Given the description of an element on the screen output the (x, y) to click on. 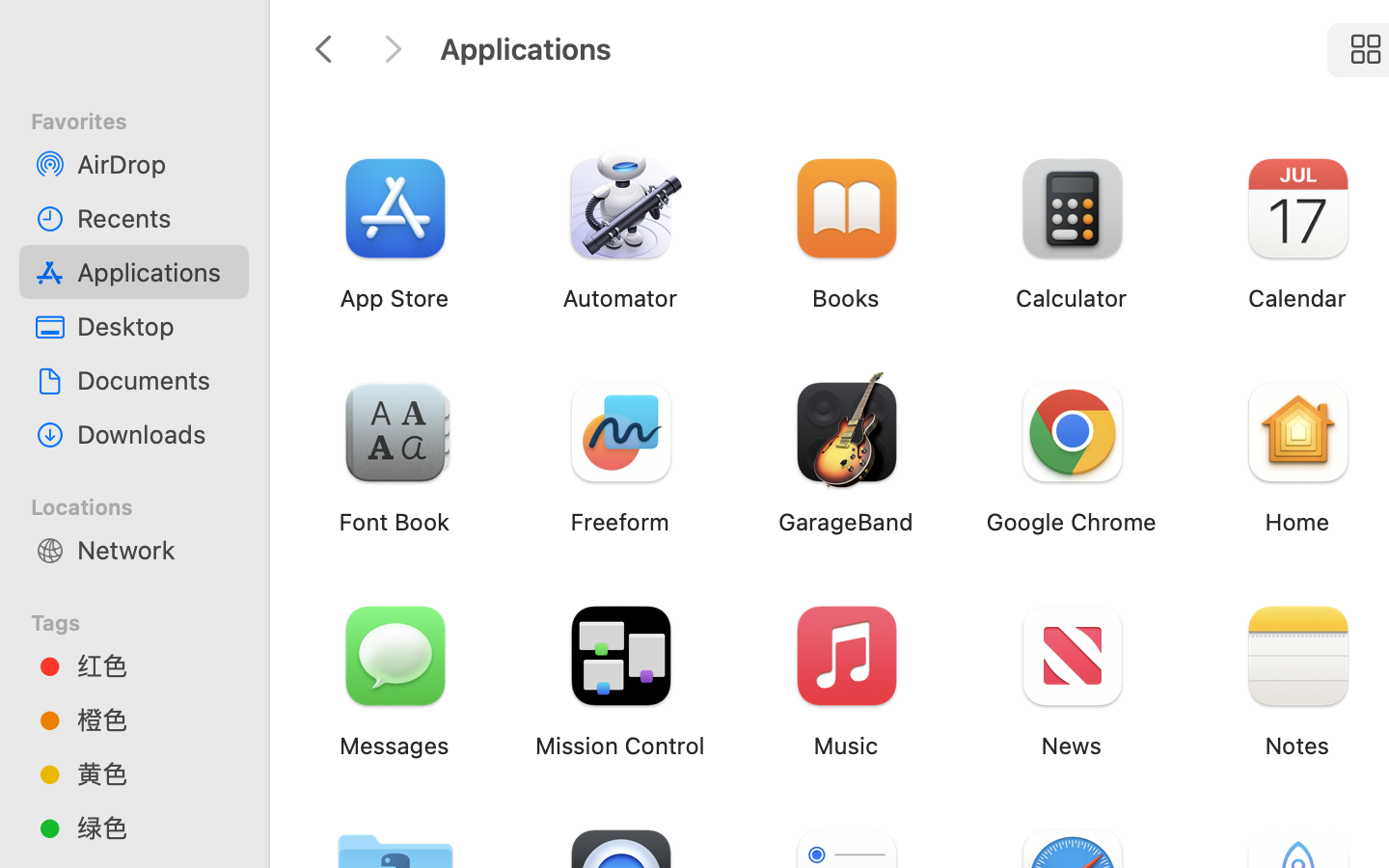
橙色 Element type: AXStaticText (155, 719)
Favorites Element type: AXStaticText (145, 118)
黄色 Element type: AXStaticText (155, 773)
Downloads Element type: AXStaticText (155, 433)
AirDrop Element type: AXStaticText (155, 163)
